Given the description of an element on the screen output the (x, y) to click on. 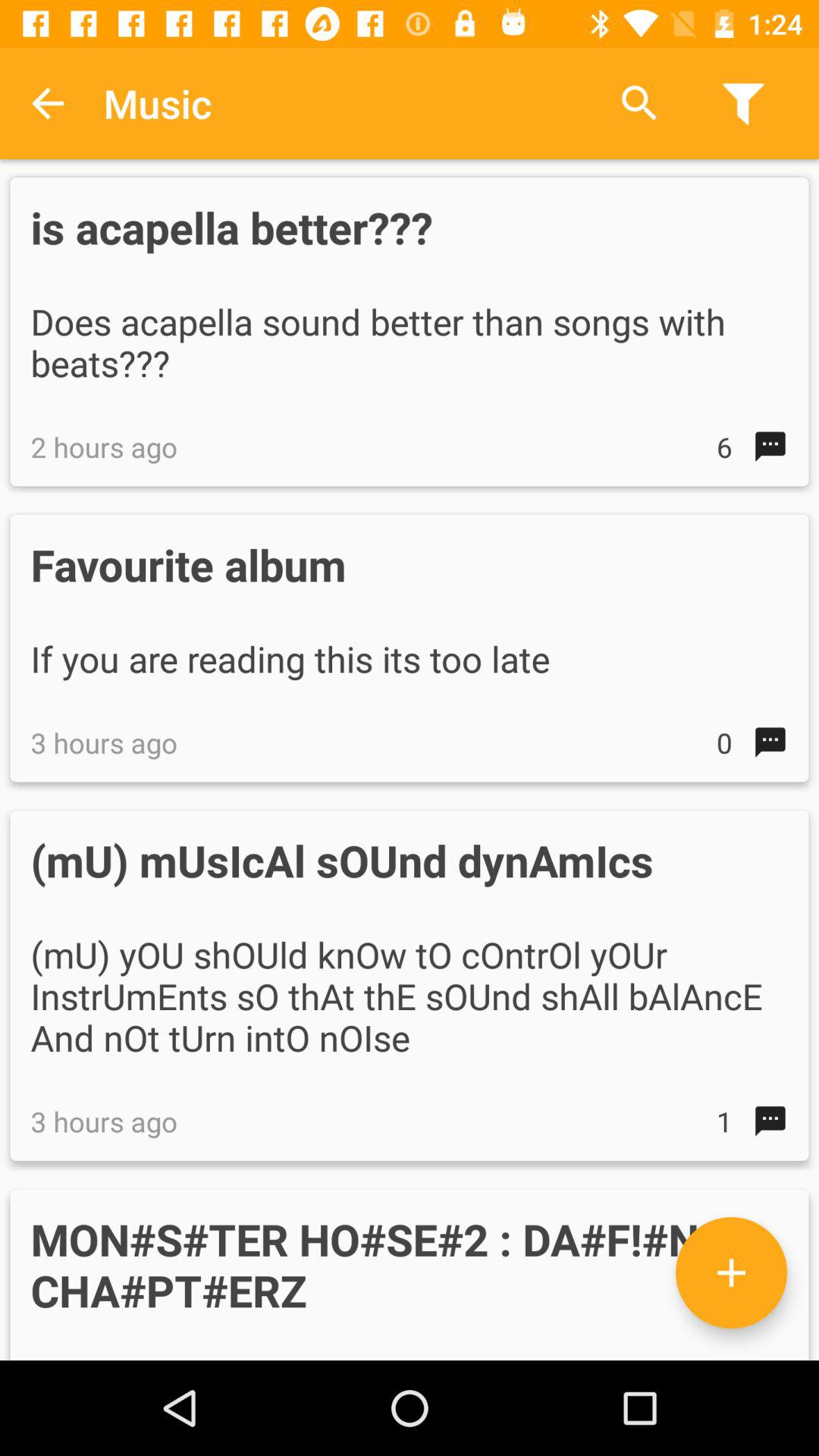
the option will point add something (731, 1272)
